Given the description of an element on the screen output the (x, y) to click on. 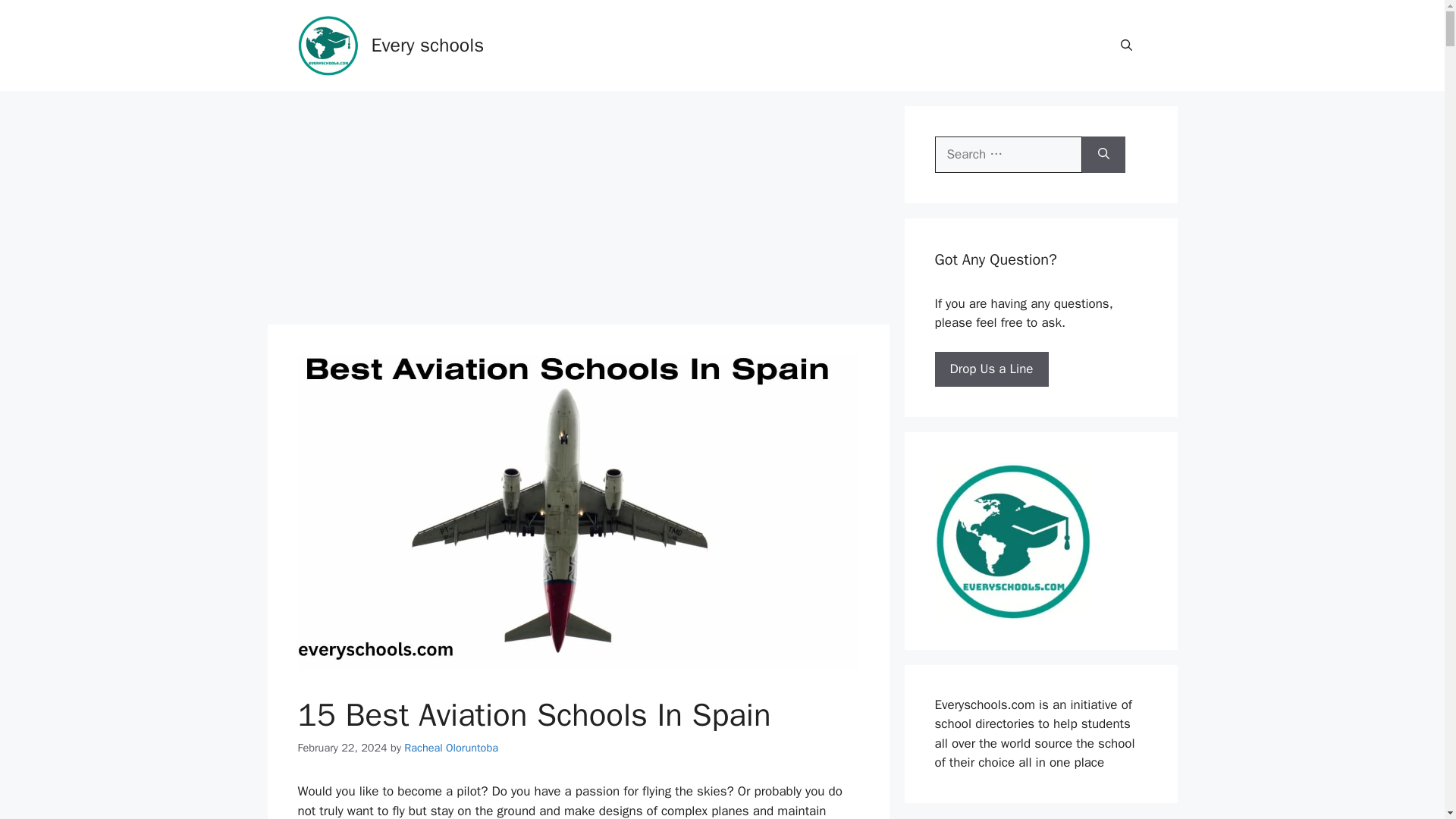
Advertisement (577, 212)
View all posts by Racheal Oloruntoba (450, 747)
Racheal Oloruntoba (450, 747)
Every schools (427, 44)
